Given the description of an element on the screen output the (x, y) to click on. 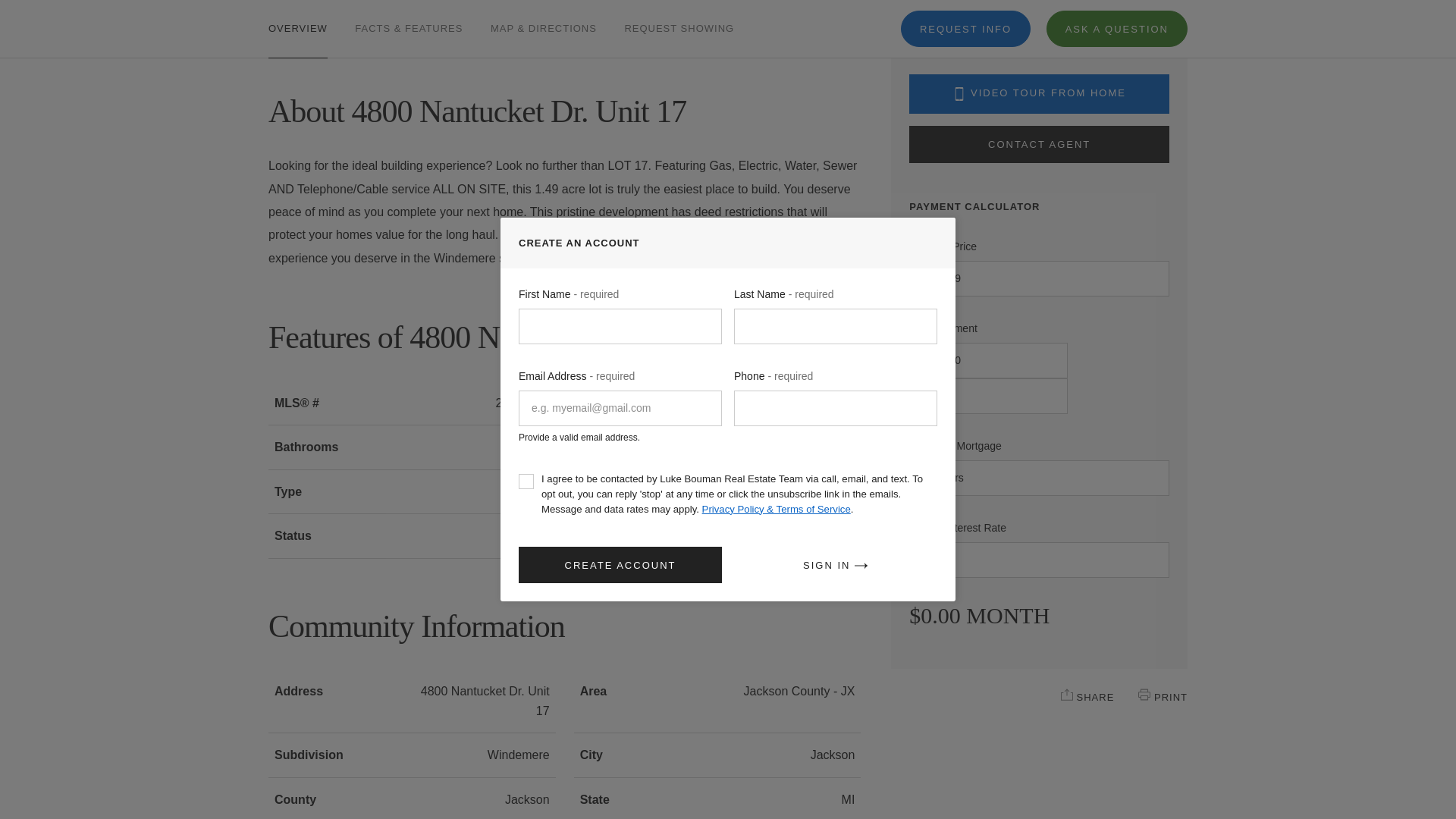
MOBILE ICON (959, 93)
PRINT (1144, 694)
SHARE (1067, 694)
OVERVIEW (297, 21)
